Given the description of an element on the screen output the (x, y) to click on. 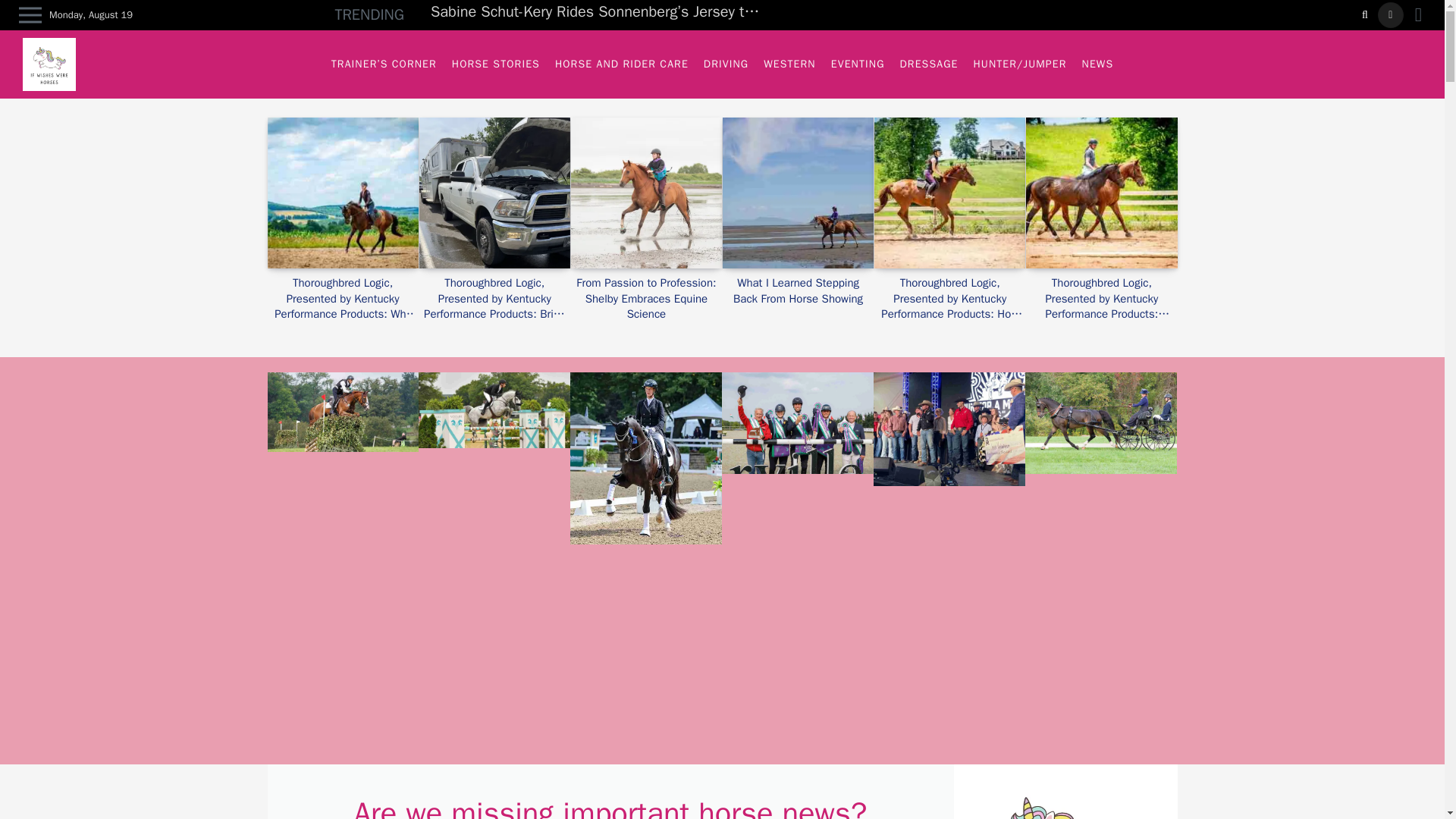
DRESSAGE (929, 64)
HORSE AND RIDER CARE (621, 64)
Instagram (1390, 14)
From Passion to Profession: Shelby Embraces Equine Science (646, 298)
WESTERN (789, 64)
HORSE STORIES (495, 64)
EVENTING (858, 64)
